Given the description of an element on the screen output the (x, y) to click on. 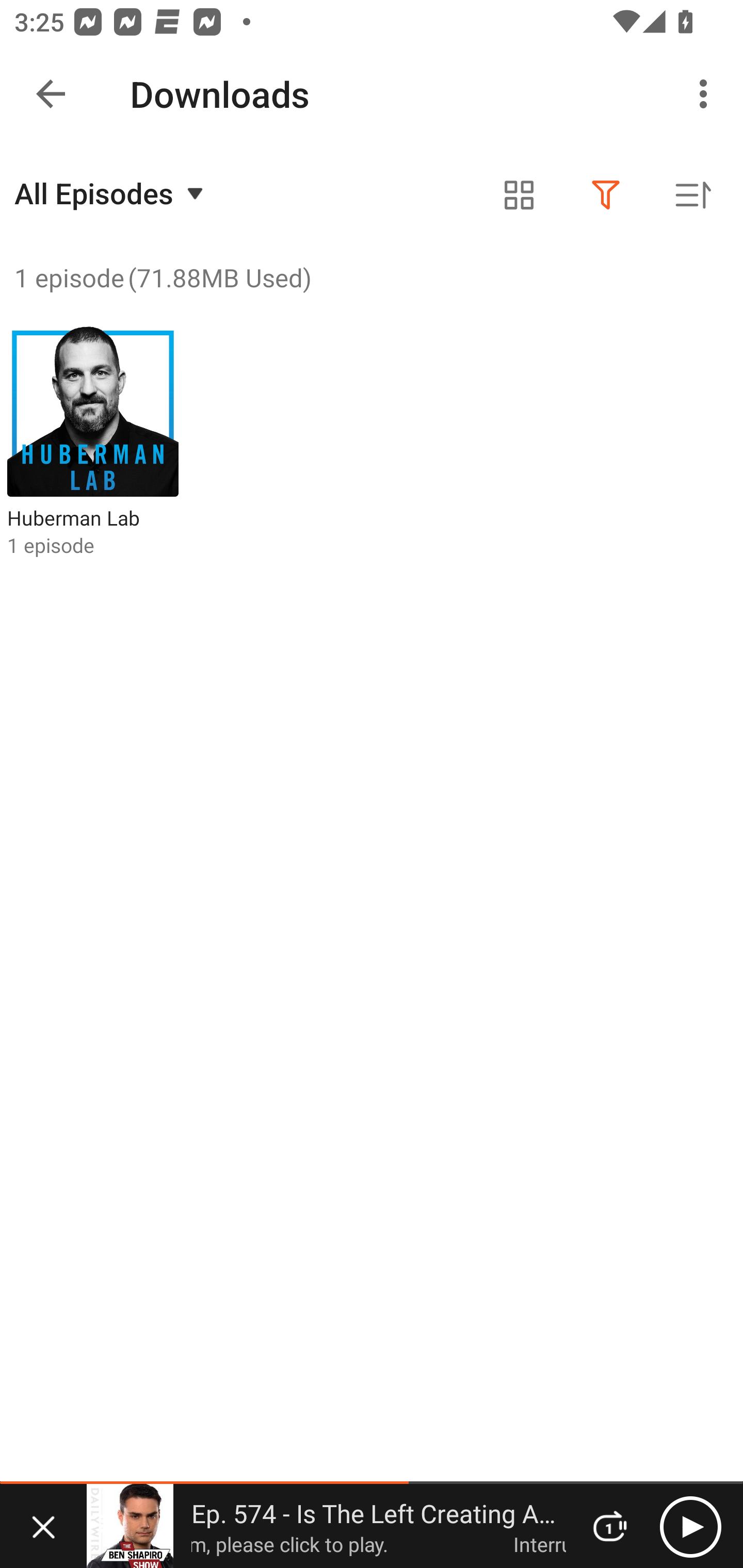
5.0 Downloading 4 episodes VIEW (371, 88)
Navigate up (50, 93)
More options (706, 93)
All Episodes (111, 192)
 (518, 195)
 (605, 195)
 Sorted by oldest first (692, 195)
Huberman Lab 1 episode (92, 442)
Play (690, 1526)
